Given the description of an element on the screen output the (x, y) to click on. 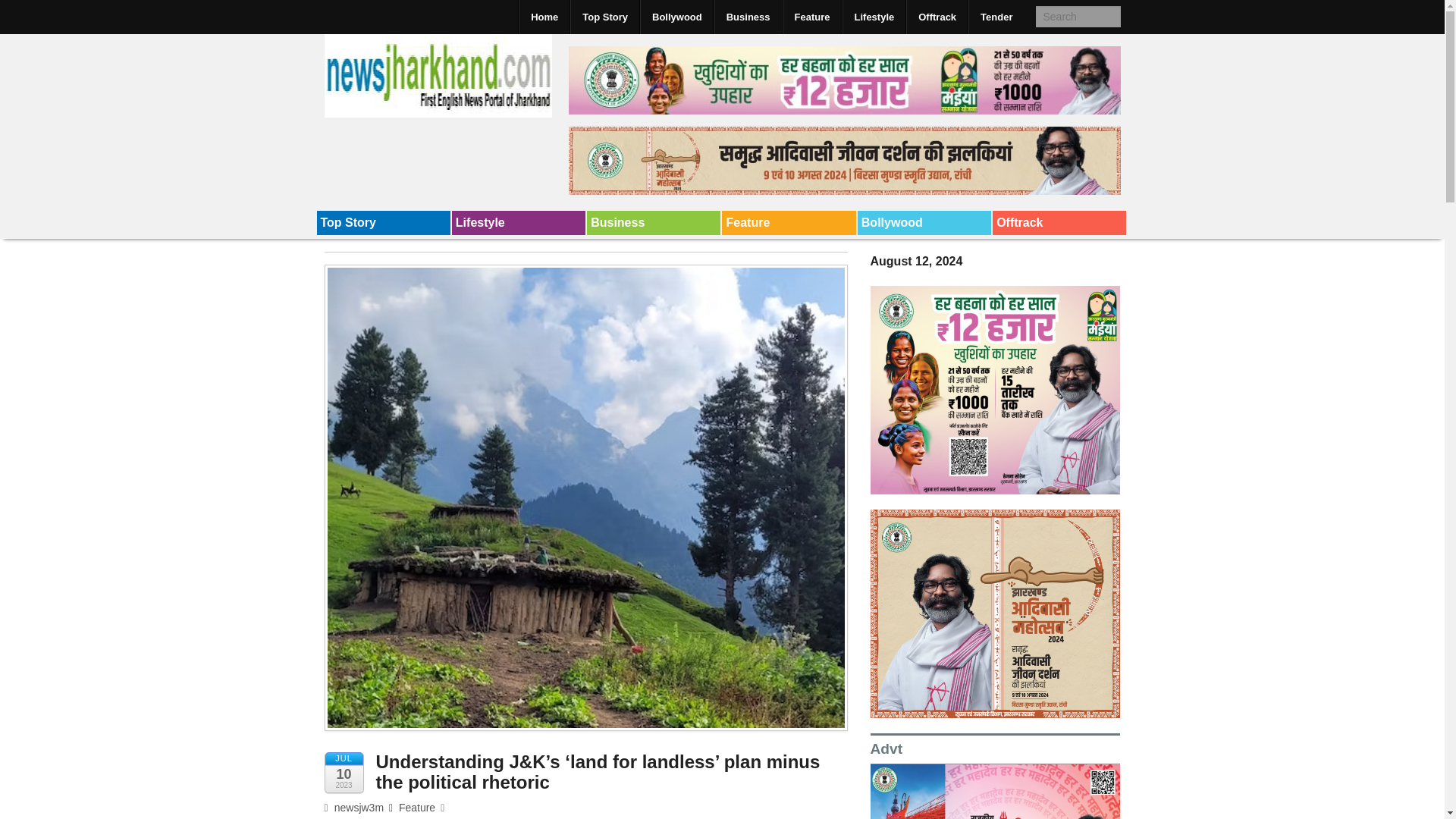
Bollywood (924, 222)
Feature (416, 807)
Business (747, 17)
View all posts by newsjw3m (354, 807)
Business (653, 222)
Top Story (383, 222)
newsjw3m (354, 807)
Home (544, 17)
Search (25, 10)
Business (653, 222)
